Given the description of an element on the screen output the (x, y) to click on. 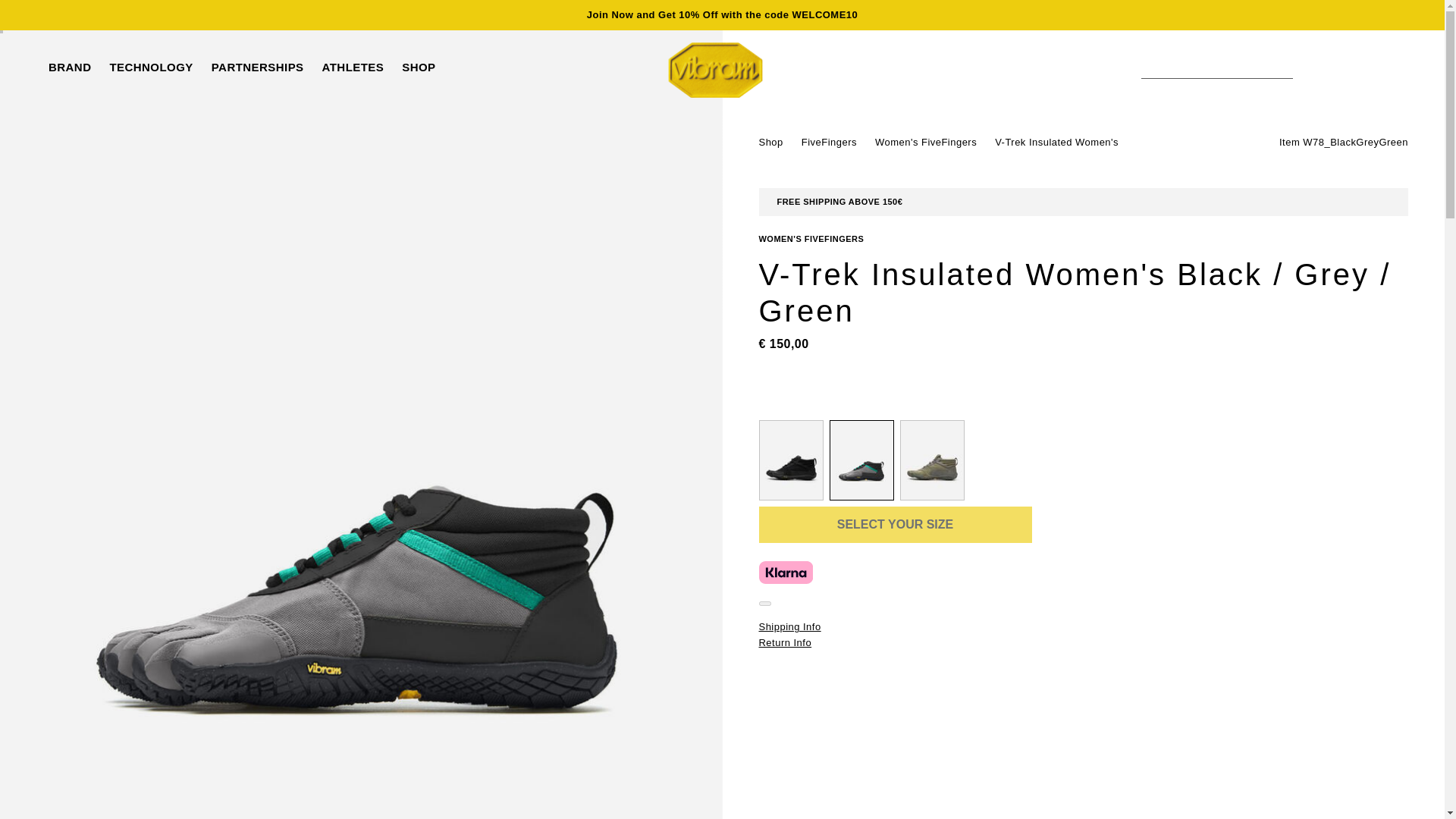
BRAND (69, 67)
Cart 0 Items (1361, 70)
TECHNOLOGY (150, 67)
Vibram Home (715, 69)
